Given the description of an element on the screen output the (x, y) to click on. 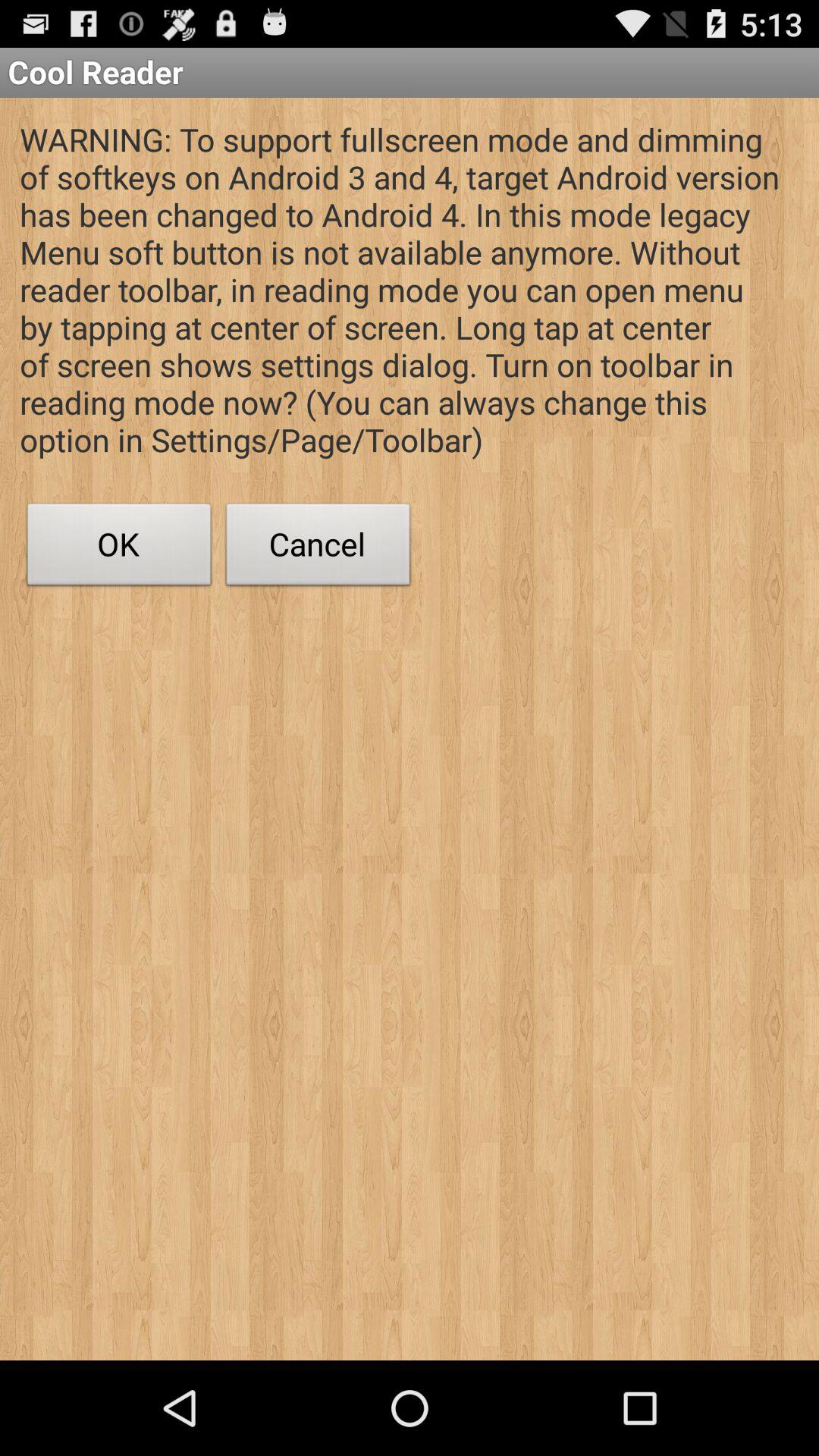
open icon to the left of cancel button (118, 548)
